Given the description of an element on the screen output the (x, y) to click on. 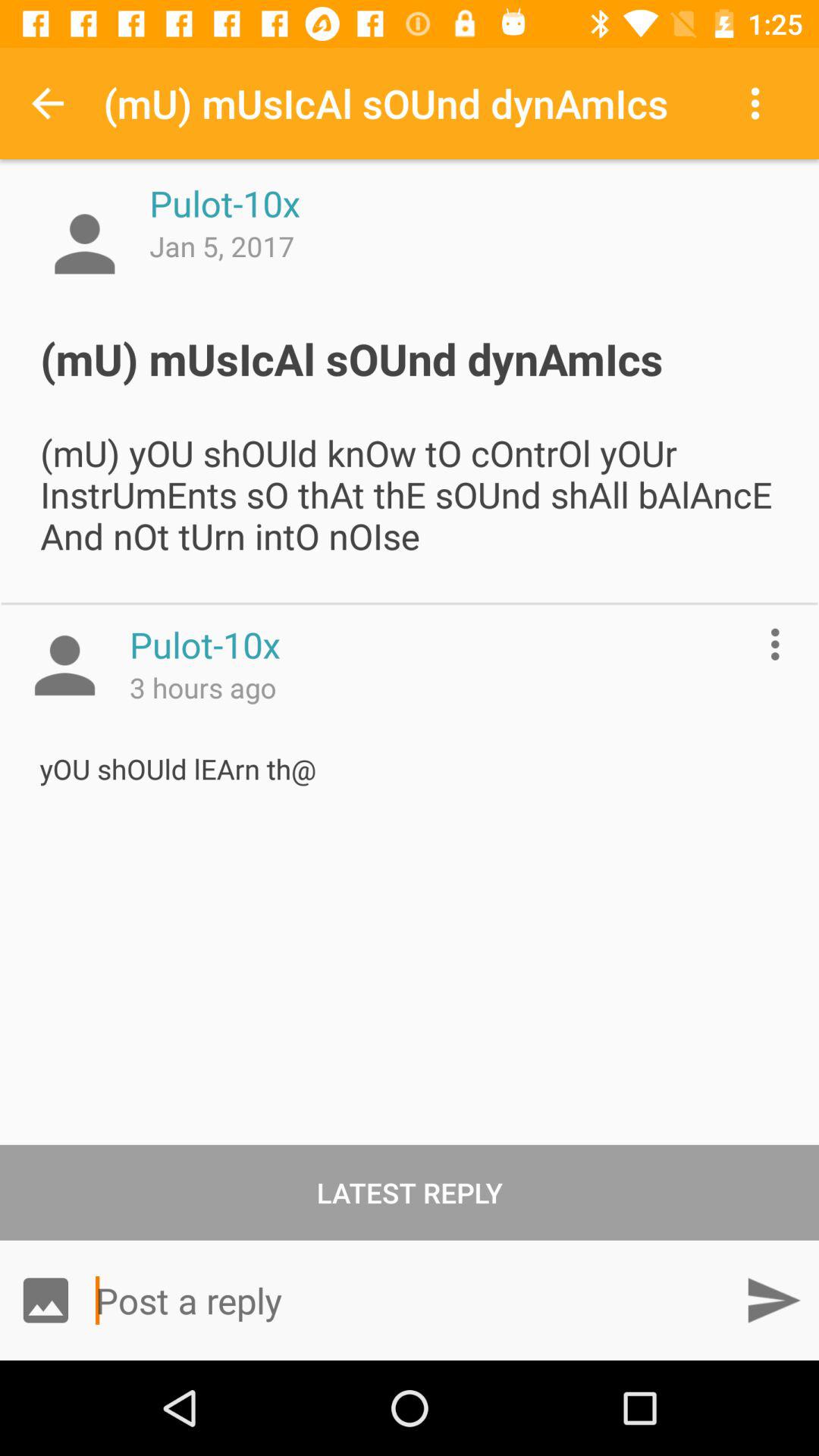
tap latest reply icon (409, 1192)
